Given the description of an element on the screen output the (x, y) to click on. 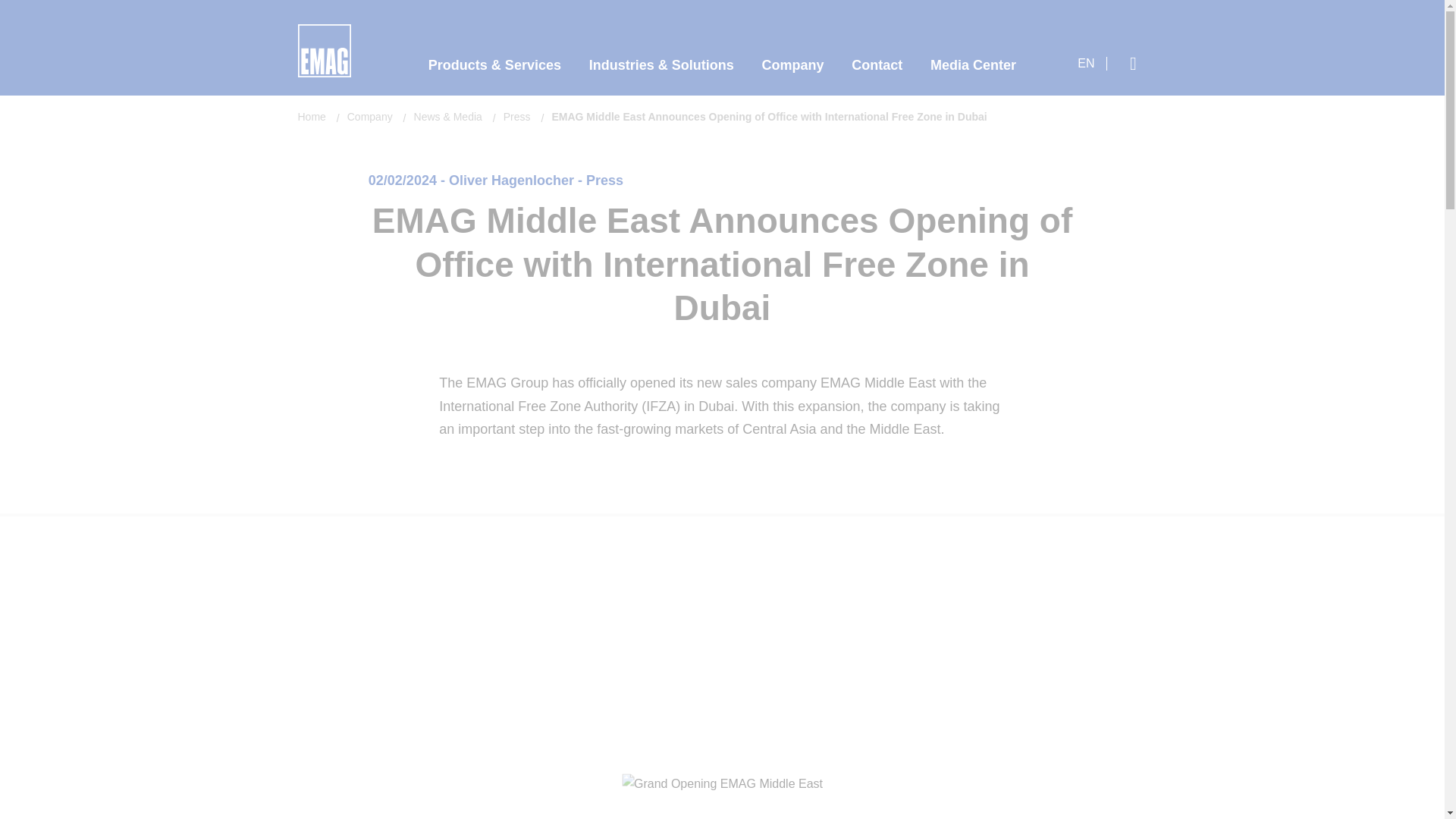
Contact (876, 65)
Company (792, 65)
Media Center (973, 65)
EN (1091, 63)
Open search (1133, 62)
